Given the description of an element on the screen output the (x, y) to click on. 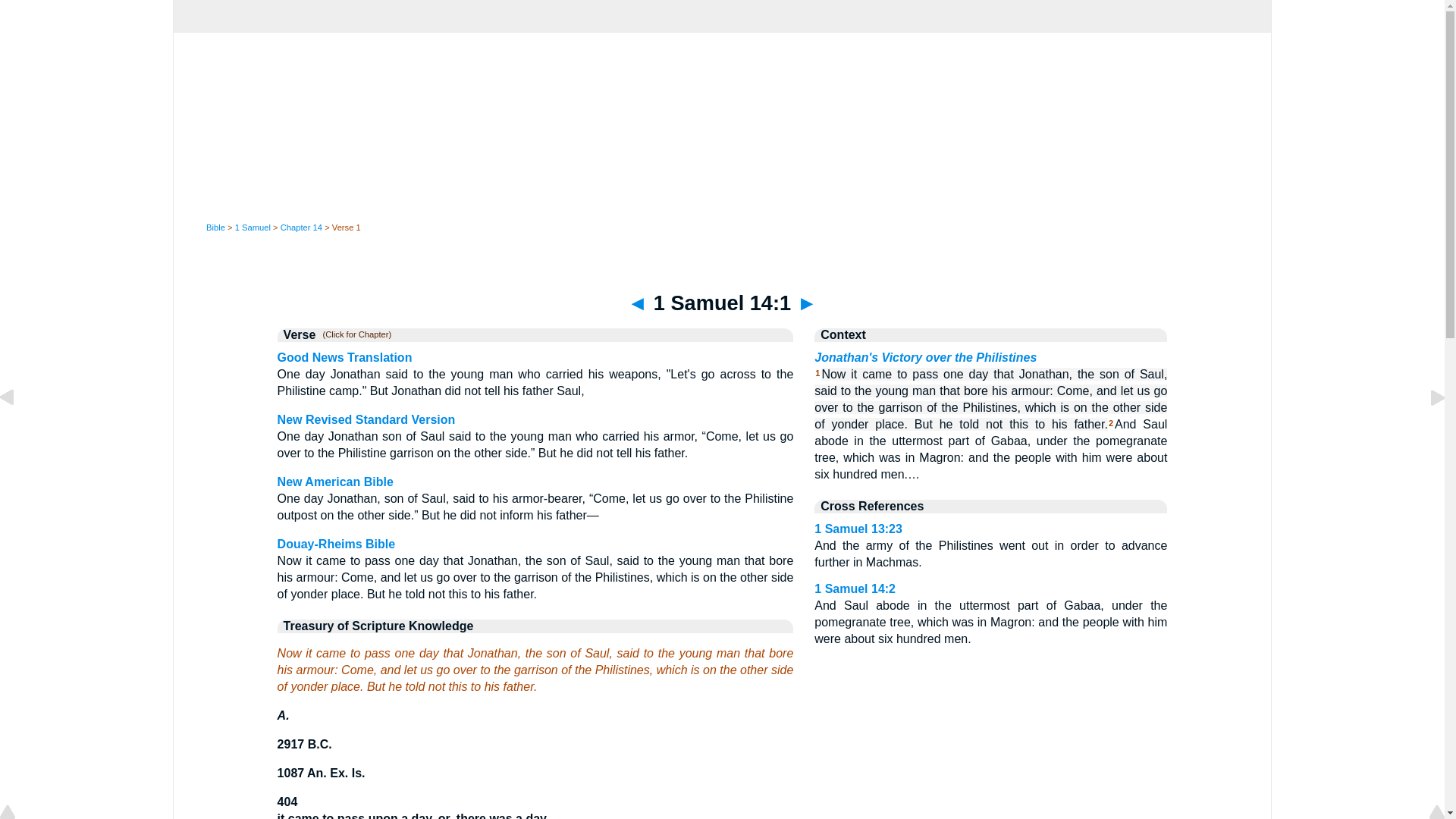
Douay-Rheims Bible (337, 543)
Click any translation name for full chapter (353, 335)
New Revised Standard Version (366, 419)
New American Bible (335, 481)
Bible (215, 226)
Chapter 14 (301, 226)
1 Samuel (252, 226)
1 Samuel 13:23 (18, 431)
Good News Translation (345, 357)
1 Samuel 13:23 (857, 528)
